Given the description of an element on the screen output the (x, y) to click on. 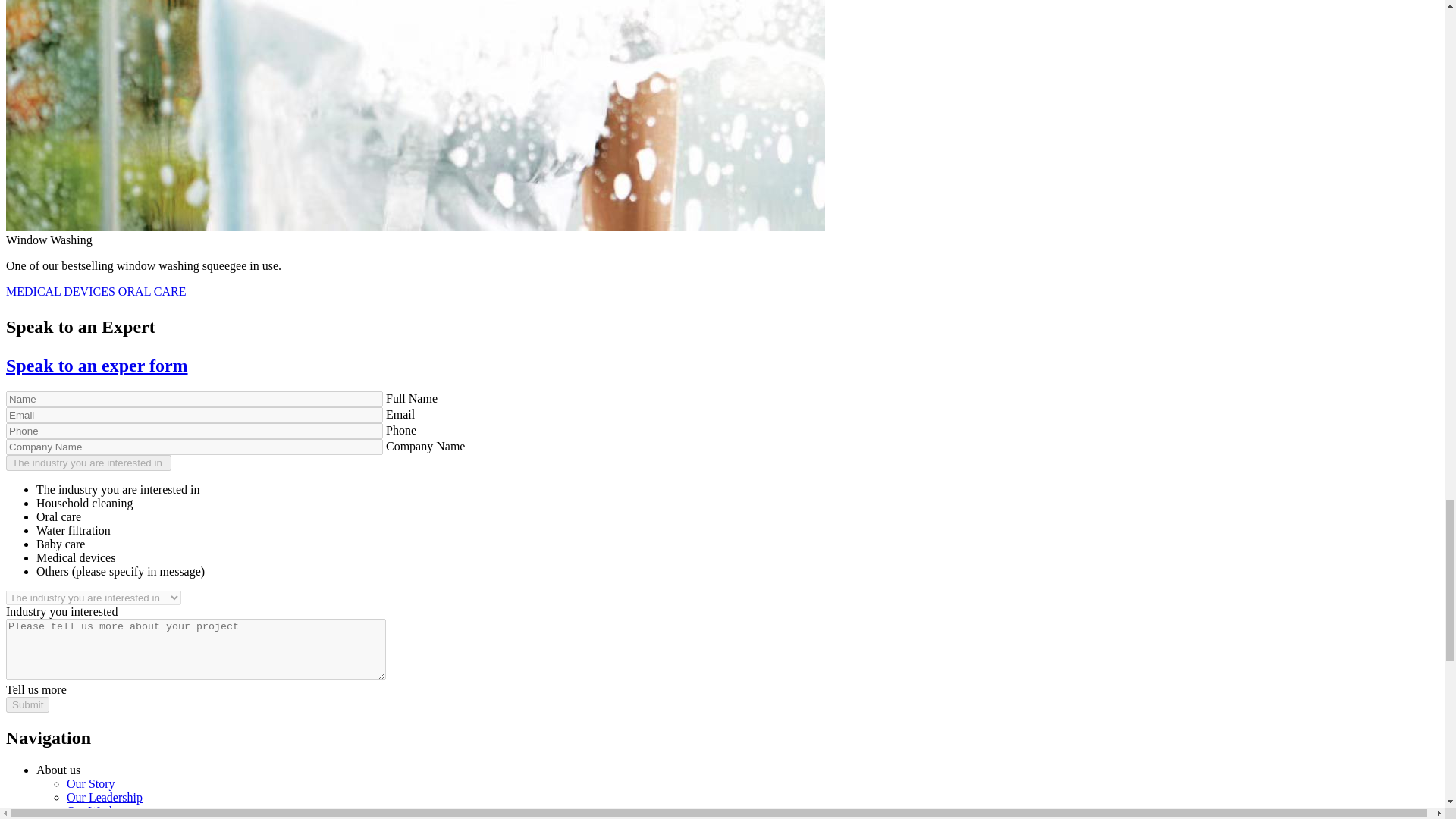
The industry you are interested in (118, 489)
Submit (27, 704)
The industry you are interested in  (88, 462)
The industry you are interested in (88, 462)
MEDICAL DEVICES (60, 291)
Baby care (60, 543)
Medical devices (75, 557)
Household cleaning (84, 502)
Oral care (58, 516)
ORAL CARE (151, 291)
